Given the description of an element on the screen output the (x, y) to click on. 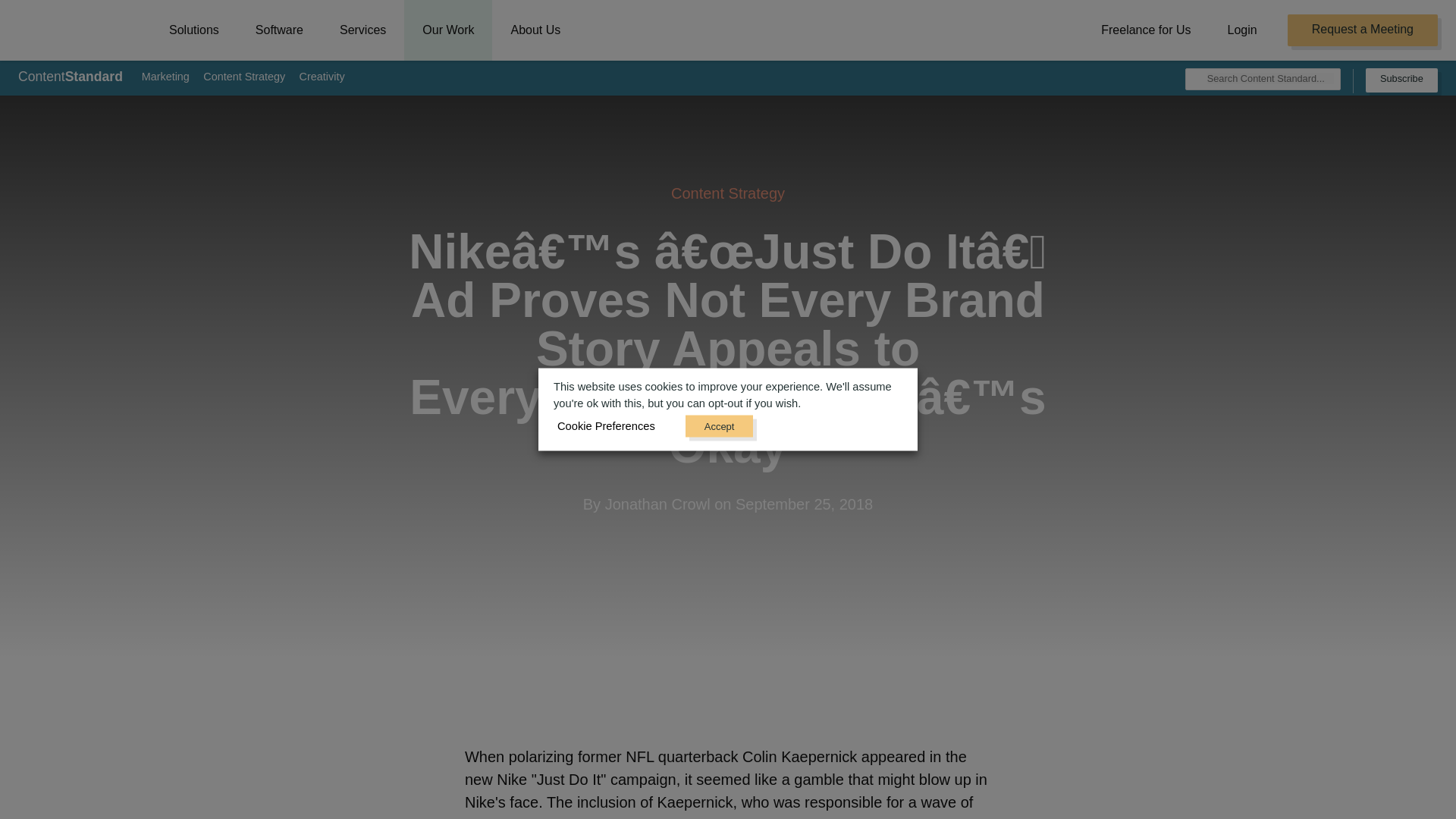
Services (362, 30)
Software (279, 30)
Search for: (1270, 78)
Solutions (194, 30)
